Given the description of an element on the screen output the (x, y) to click on. 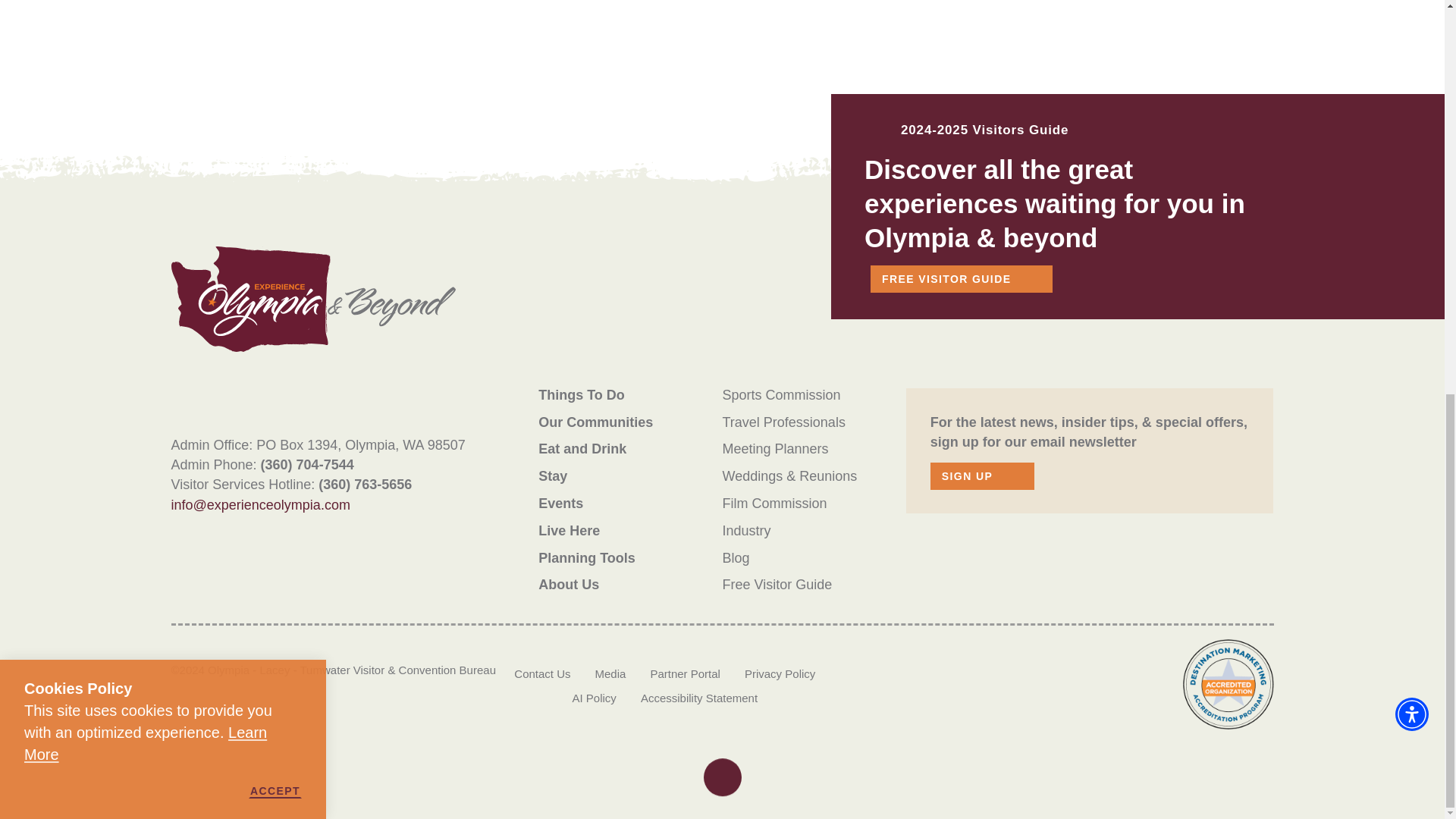
Things To Do (581, 394)
FREE VISITOR GUIDE (961, 278)
